Given the description of an element on the screen output the (x, y) to click on. 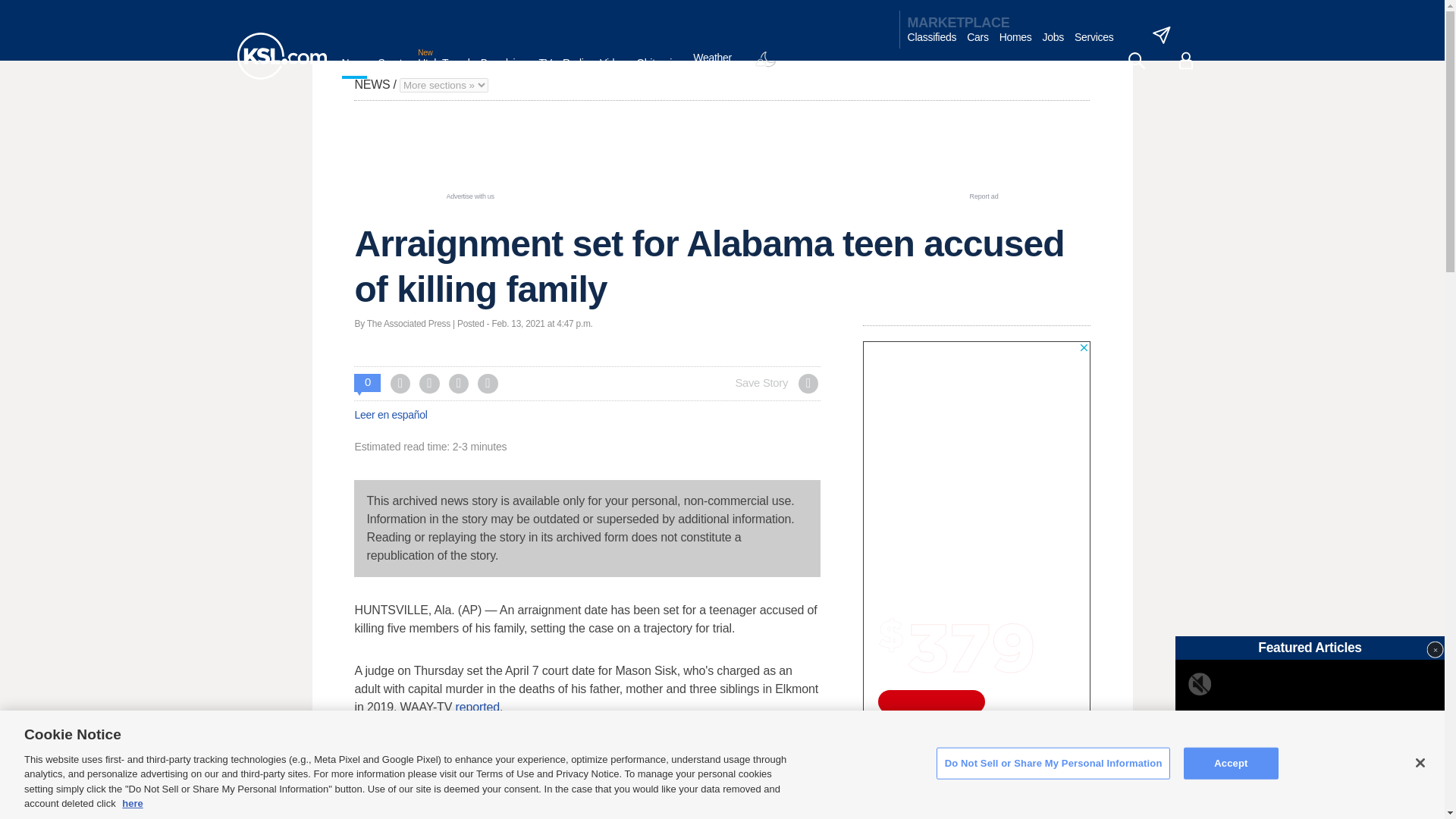
search (1135, 60)
3rd party ad content (721, 156)
KSL homepage (280, 55)
account - logged out (1185, 60)
